Given the description of an element on the screen output the (x, y) to click on. 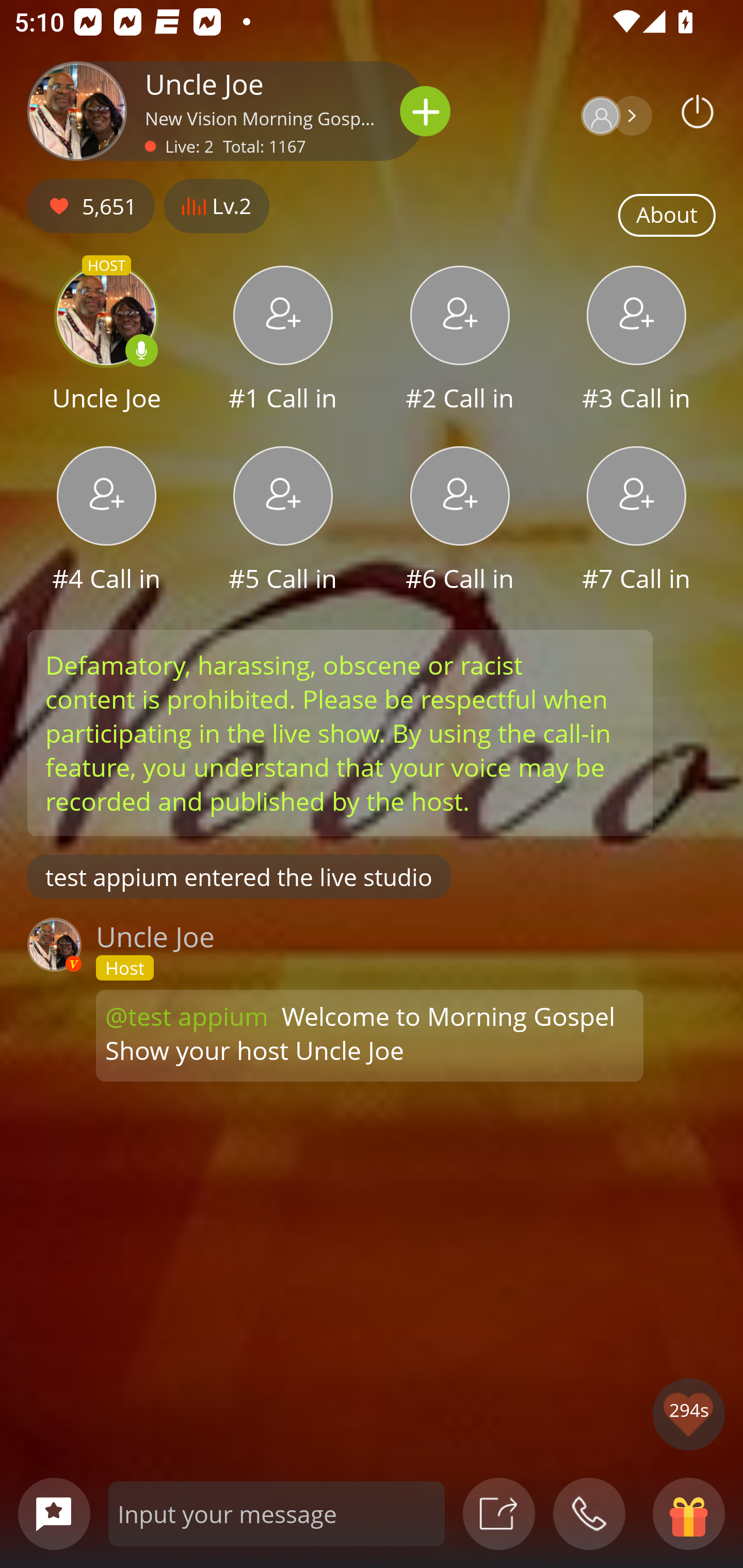
Podbean (697, 111)
About (666, 215)
HOST Uncle Joe (105, 340)
#1 Call in (282, 340)
#2 Call in (459, 340)
#3 Call in (636, 340)
#4 Call in (105, 521)
#5 Call in (282, 521)
#6 Call in (459, 521)
#7 Call in (636, 521)
Input your message (276, 1513)
